Given the description of an element on the screen output the (x, y) to click on. 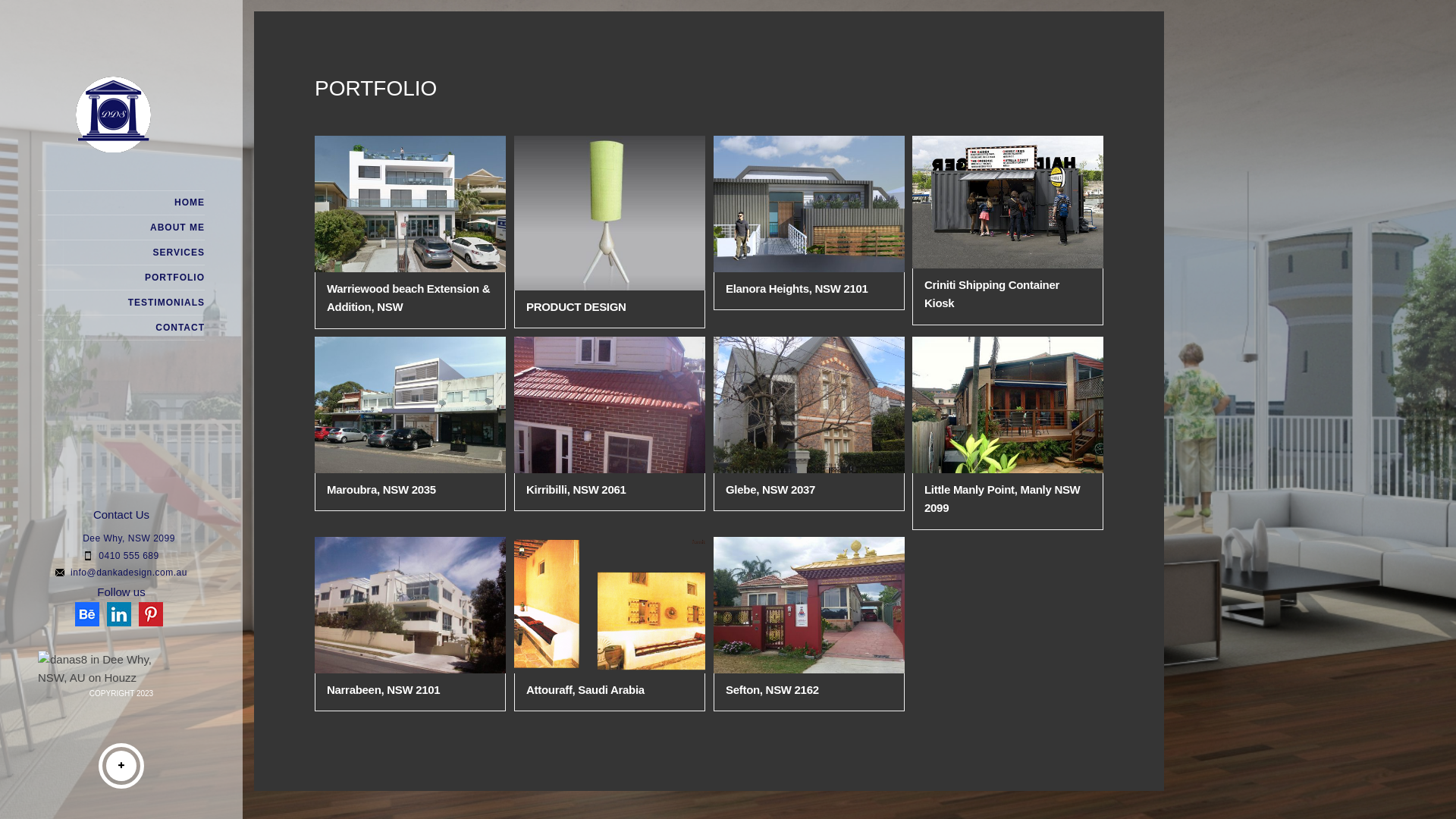
Elanora Heights, NSW 2101 Element type: text (796, 288)
Narrabeen, NSW 2101 Element type: text (382, 689)
Criniti Shipping Container Kiosk Element type: text (991, 293)
Sefton, NSW 2162 Element type: text (772, 689)
HOME Element type: text (120, 202)
Pinterest Element type: hover (150, 614)
PORTFOLIO Element type: text (120, 277)
LinkedIn Element type: hover (118, 614)
Warriewood beach Extension & Addition, NSW Element type: text (407, 297)
Behance Element type: hover (87, 614)
TESTIMONIALS Element type: text (120, 302)
CONTACT Element type: text (120, 327)
Glebe, NSW 2037 Element type: text (770, 489)
info@dankadesign.com.au Element type: text (128, 572)
Kirribilli, NSW 2061 Element type: text (576, 489)
SERVICES Element type: text (120, 252)
Attouraff, Saudi Arabia Element type: text (585, 689)
ABOUT ME Element type: text (120, 227)
Little Manly Point, Manly NSW 2099 Element type: text (1001, 498)
Maroubra, NSW 2035 Element type: text (381, 489)
PRODUCT DESIGN Element type: text (576, 306)
